Given the description of an element on the screen output the (x, y) to click on. 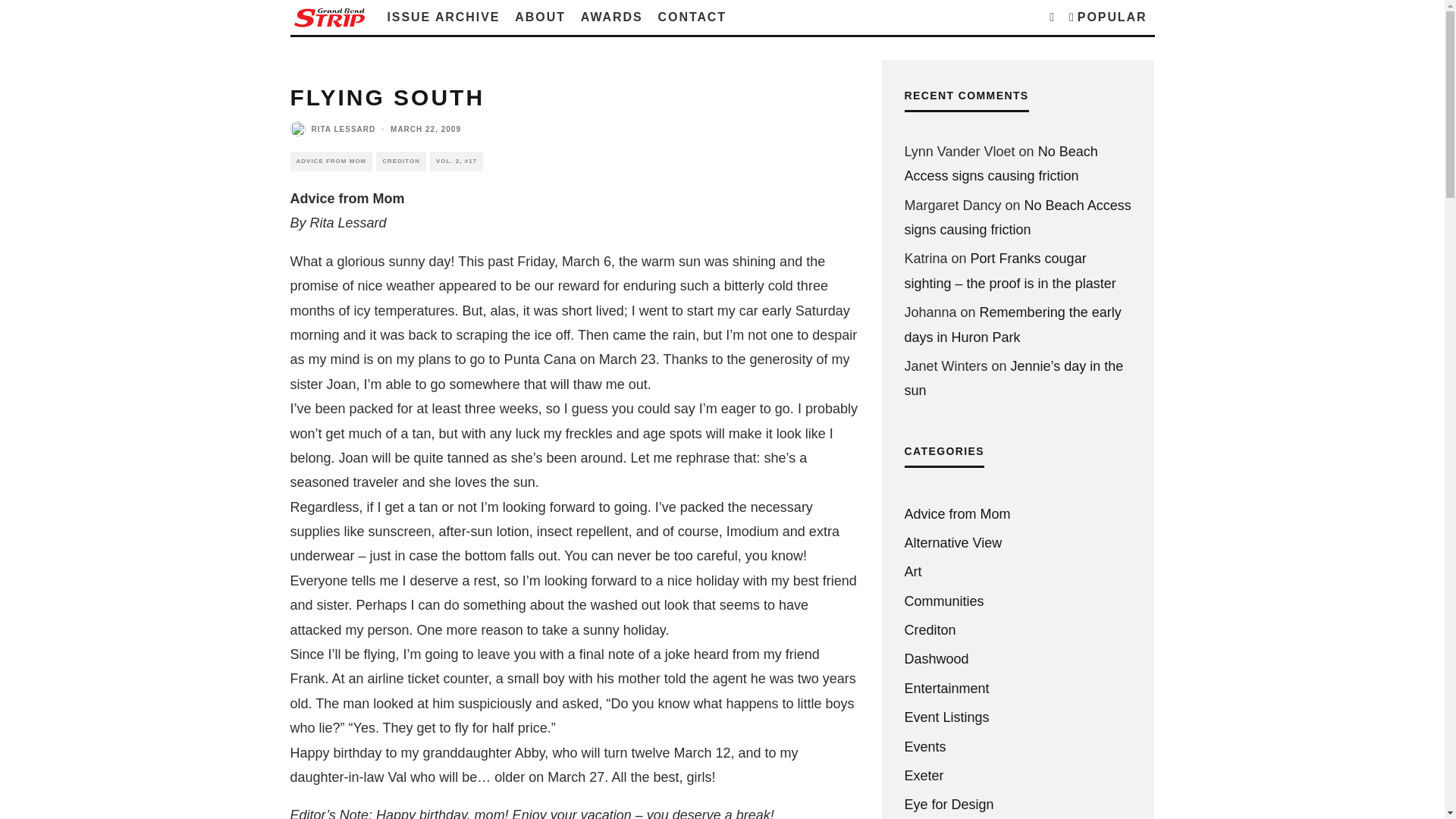
ISSUE ARCHIVE (442, 17)
AWARDS (611, 17)
CONTACT (691, 17)
POPULAR (1107, 17)
RITA LESSARD (343, 128)
ABOUT (539, 17)
No Beach Access signs causing friction (1000, 163)
ADVICE FROM MOM (330, 161)
CREDITON (400, 161)
